Given the description of an element on the screen output the (x, y) to click on. 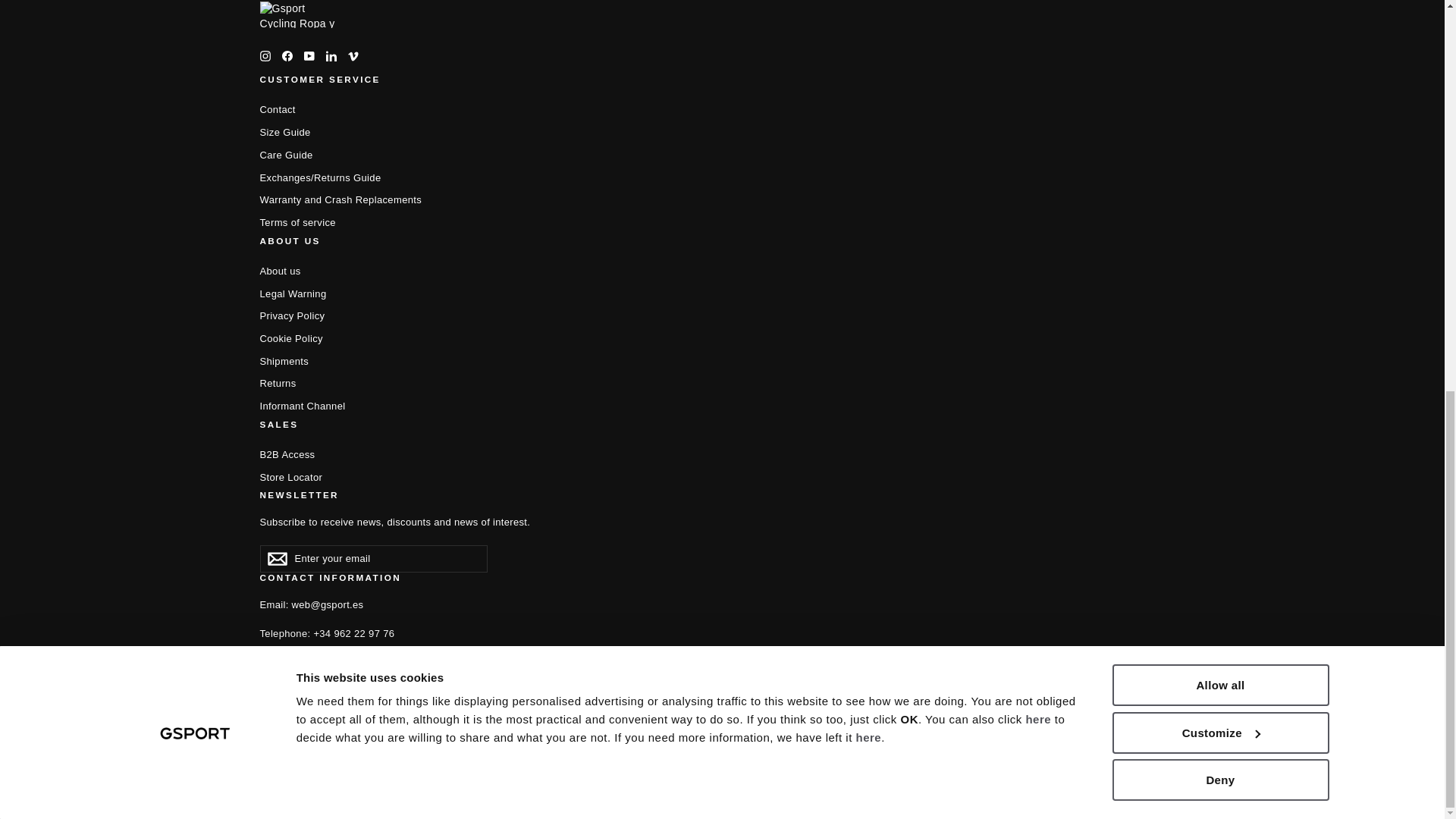
PayPal (774, 740)
Mastercard (739, 740)
Google Pay (669, 740)
Maestro (704, 740)
Apple Pay (634, 740)
American Express (599, 740)
